Given the description of an element on the screen output the (x, y) to click on. 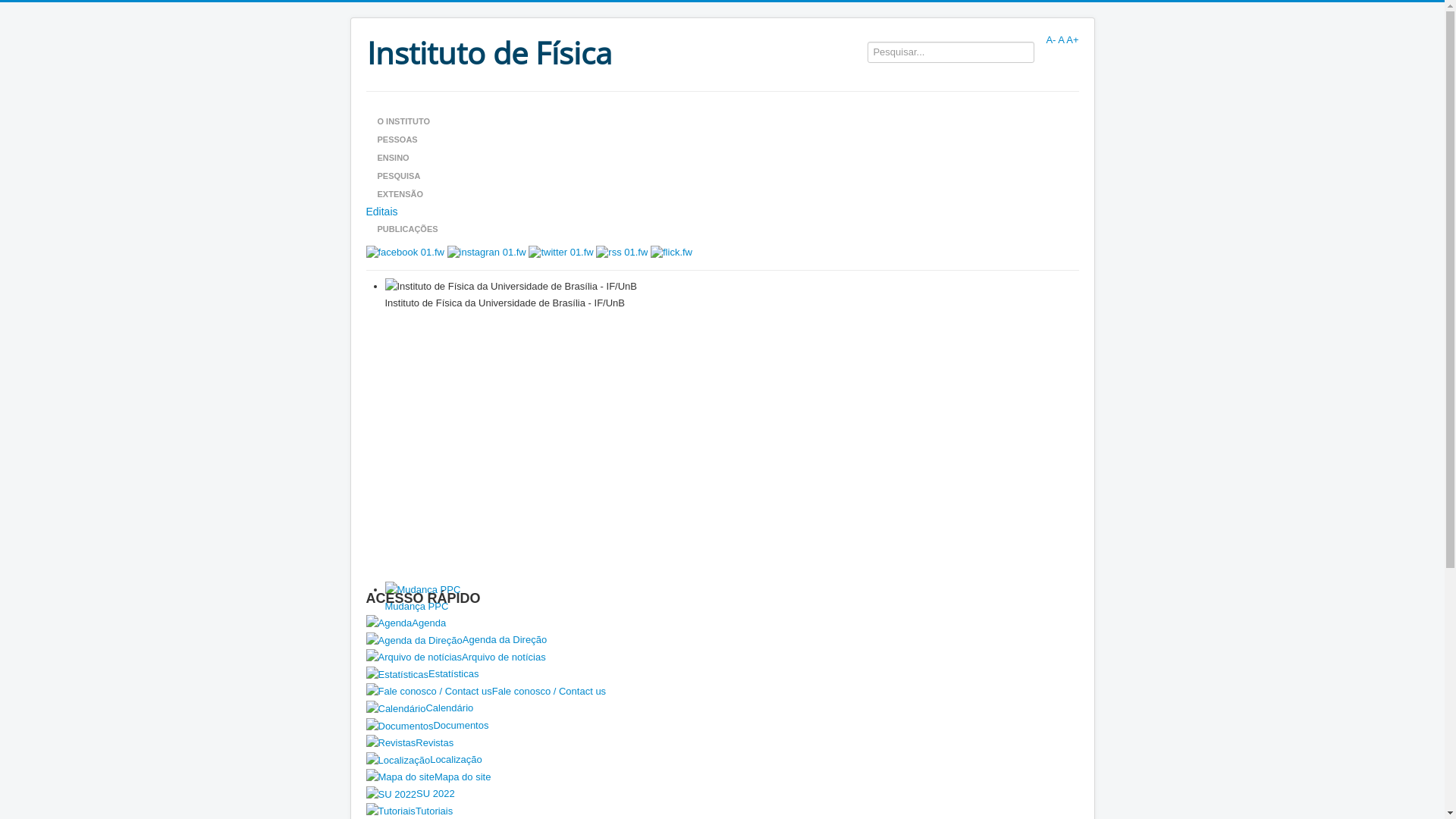
A+ Element type: text (1072, 39)
Editais Element type: text (721, 211)
SU 2022 Element type: text (721, 794)
Documentos Element type: text (721, 725)
Mapa do site Element type: text (721, 777)
A Element type: text (1060, 39)
Fale conosco / Contact us Element type: text (721, 691)
A- Element type: text (1050, 39)
Agenda Element type: text (721, 623)
Revistas Element type: text (721, 742)
